Given the description of an element on the screen output the (x, y) to click on. 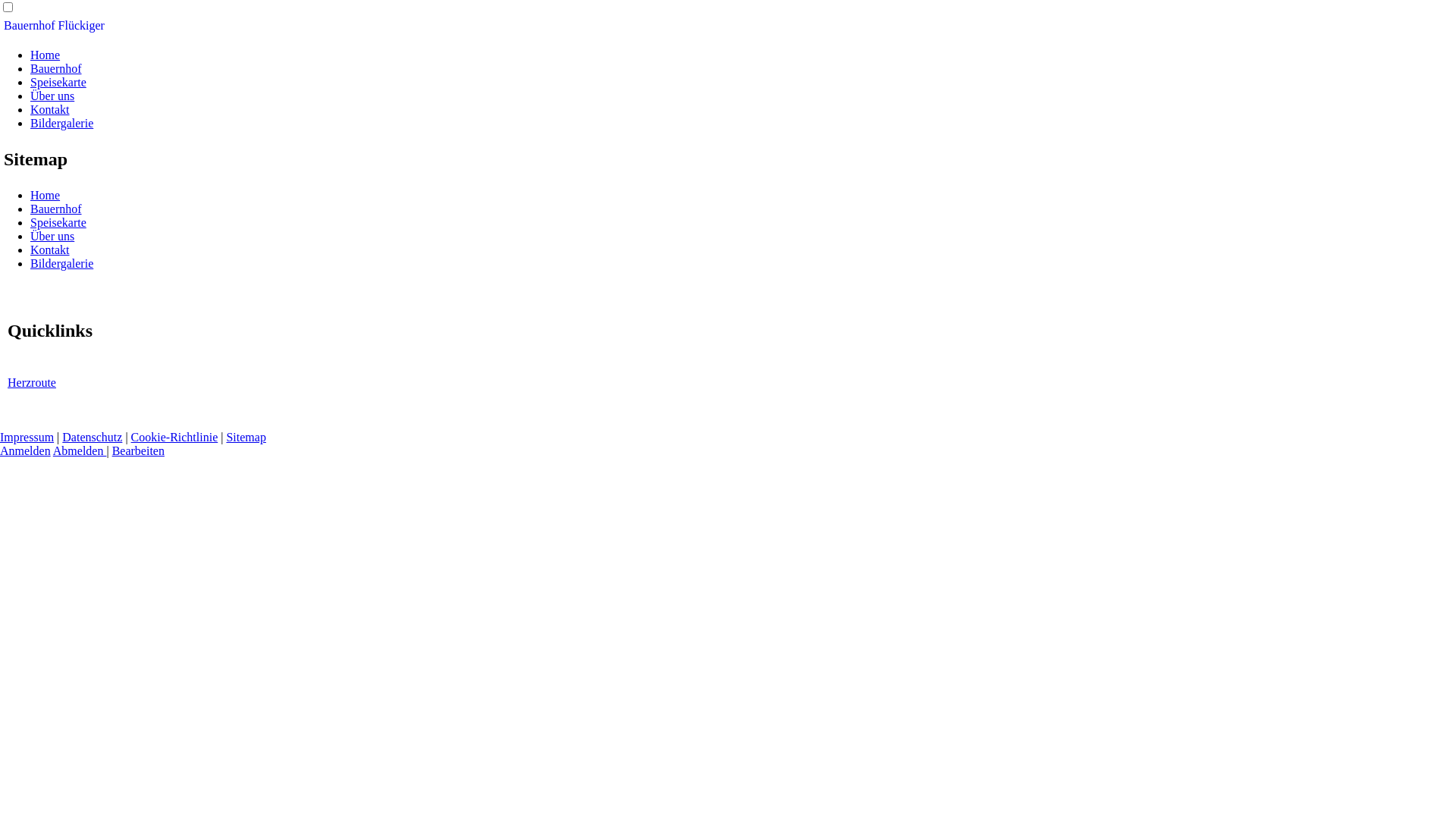
Abmelden Element type: text (79, 450)
Cookie-Richtlinie Element type: text (174, 436)
Bildergalerie Element type: text (61, 263)
Kontakt Element type: text (49, 249)
Home Element type: text (44, 194)
Sitemap Element type: text (245, 436)
Bauernhof Element type: text (55, 208)
Datenschutz Element type: text (92, 436)
Speisekarte Element type: text (58, 222)
Anmelden Element type: text (25, 450)
Home Element type: text (44, 54)
Bildergalerie Element type: text (61, 122)
Kontakt Element type: text (49, 109)
Bearbeiten Element type: text (138, 450)
Bauernhof Element type: text (55, 68)
Speisekarte Element type: text (58, 81)
Herzroute Element type: text (31, 382)
Impressum Element type: text (26, 436)
